Given the description of an element on the screen output the (x, y) to click on. 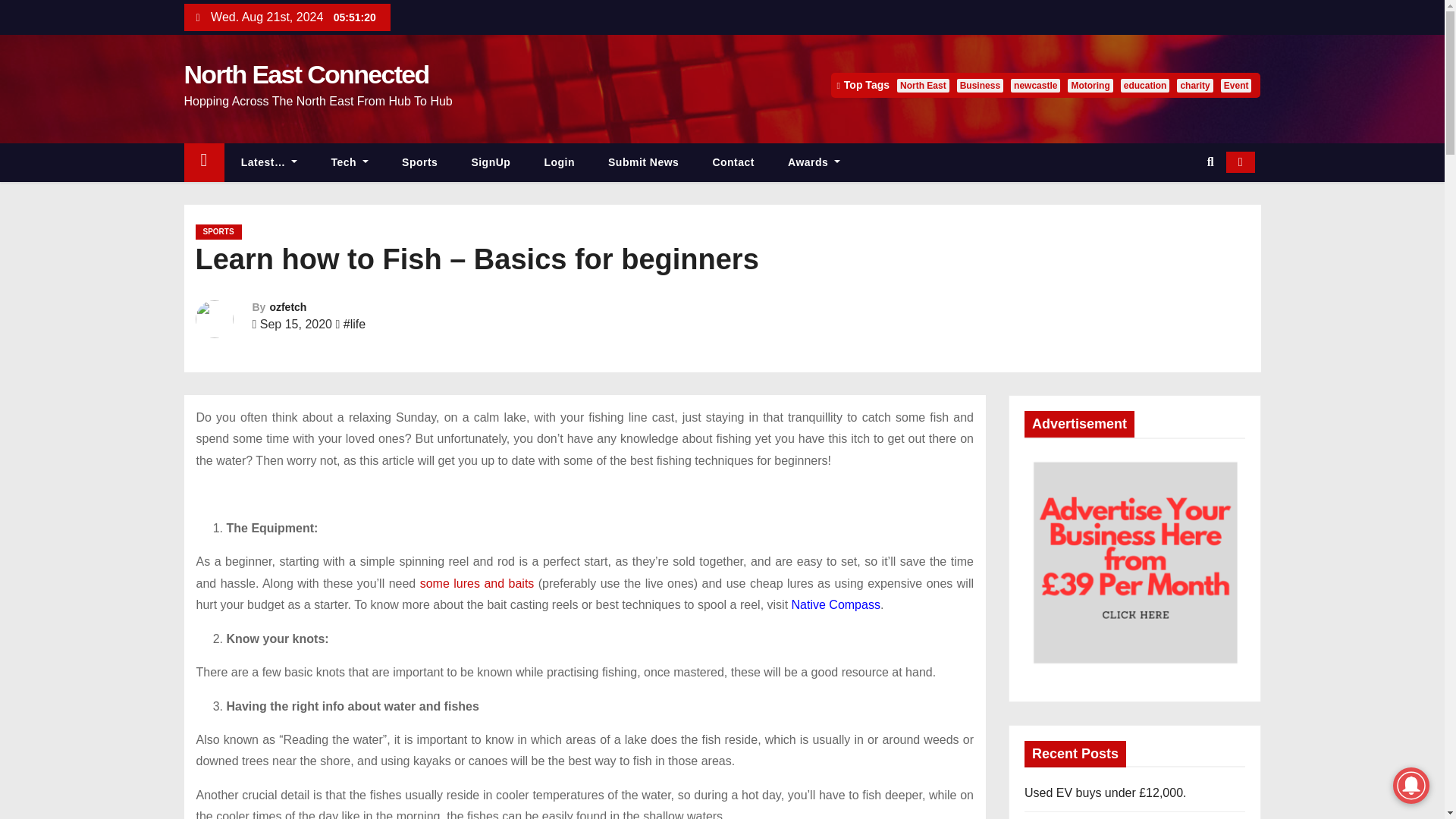
Tech (349, 162)
Tech (349, 162)
Login (559, 162)
Sports (419, 162)
education (1145, 85)
ozfetch (287, 306)
charity (1194, 85)
Login (559, 162)
Awards (814, 162)
SignUp (490, 162)
